Given the description of an element on the screen output the (x, y) to click on. 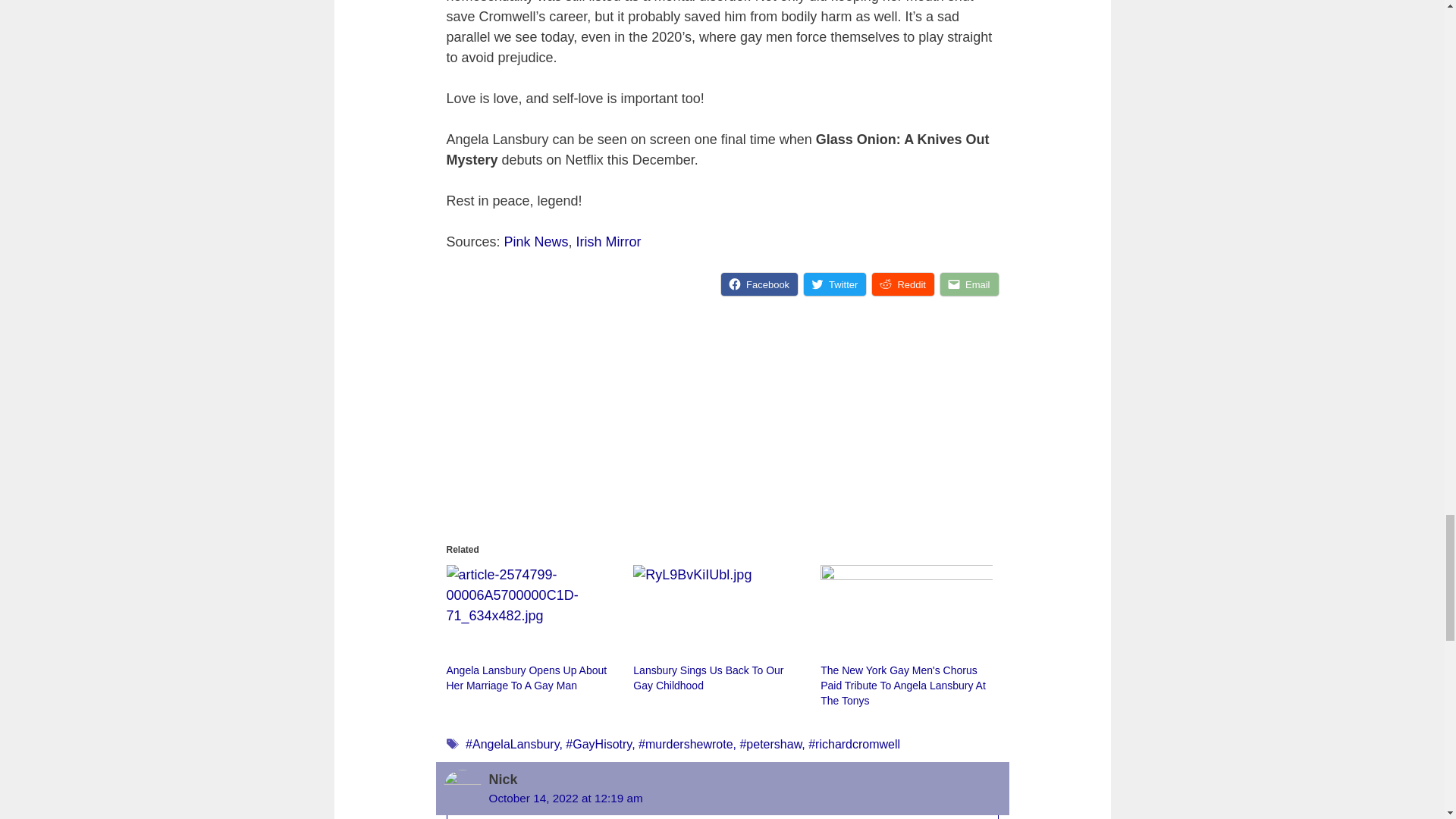
Pink News (536, 241)
Irish Mirror (609, 241)
Lansbury Sings Us Back To Our Gay Childhood (719, 614)
Click to email a link to a friend (969, 283)
Click to share on Reddit (903, 283)
Twitter (834, 283)
Angela Lansbury Opens Up About Her Marriage To A Gay Man (531, 614)
Facebook (758, 283)
Angela Lansbury Opens Up About Her Marriage To A Gay Man (526, 677)
Click to share on Twitter (834, 283)
Click to share on Facebook (758, 283)
Lansbury Sings Us Back To Our Gay Childhood (708, 677)
